Given the description of an element on the screen output the (x, y) to click on. 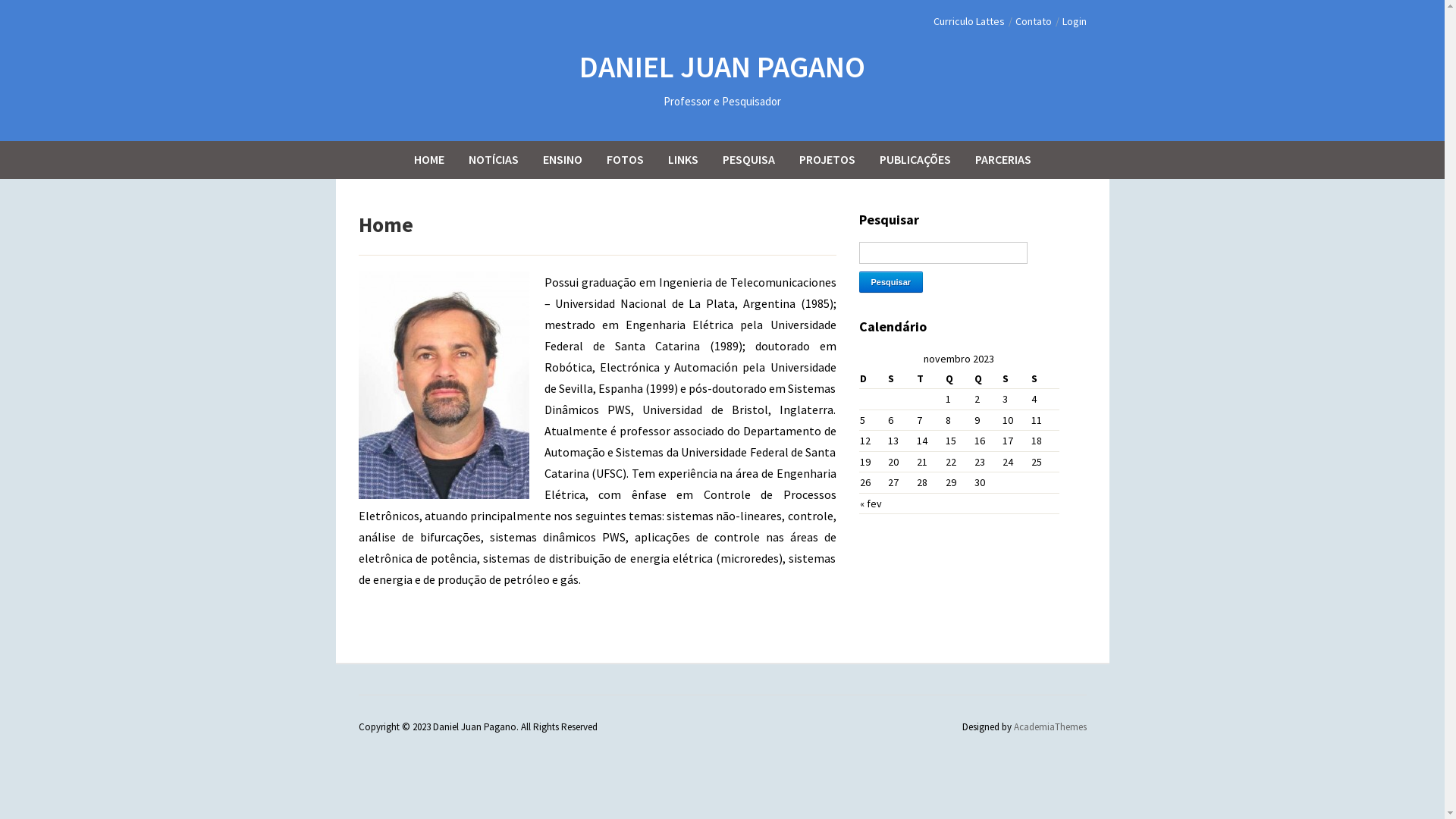
Curriculo Lattes Element type: text (968, 21)
FOTOS Element type: text (624, 159)
Pesquisar Element type: text (890, 281)
Login Element type: text (1073, 21)
Contato Element type: text (1032, 21)
PARCERIAS Element type: text (1002, 159)
ENSINO Element type: text (561, 159)
AcademiaThemes Element type: text (1049, 726)
PESQUISA Element type: text (748, 159)
PROJETOS Element type: text (826, 159)
HOME Element type: text (428, 159)
DANIEL JUAN PAGANO Element type: text (722, 66)
LINKS Element type: text (682, 159)
